Given the description of an element on the screen output the (x, y) to click on. 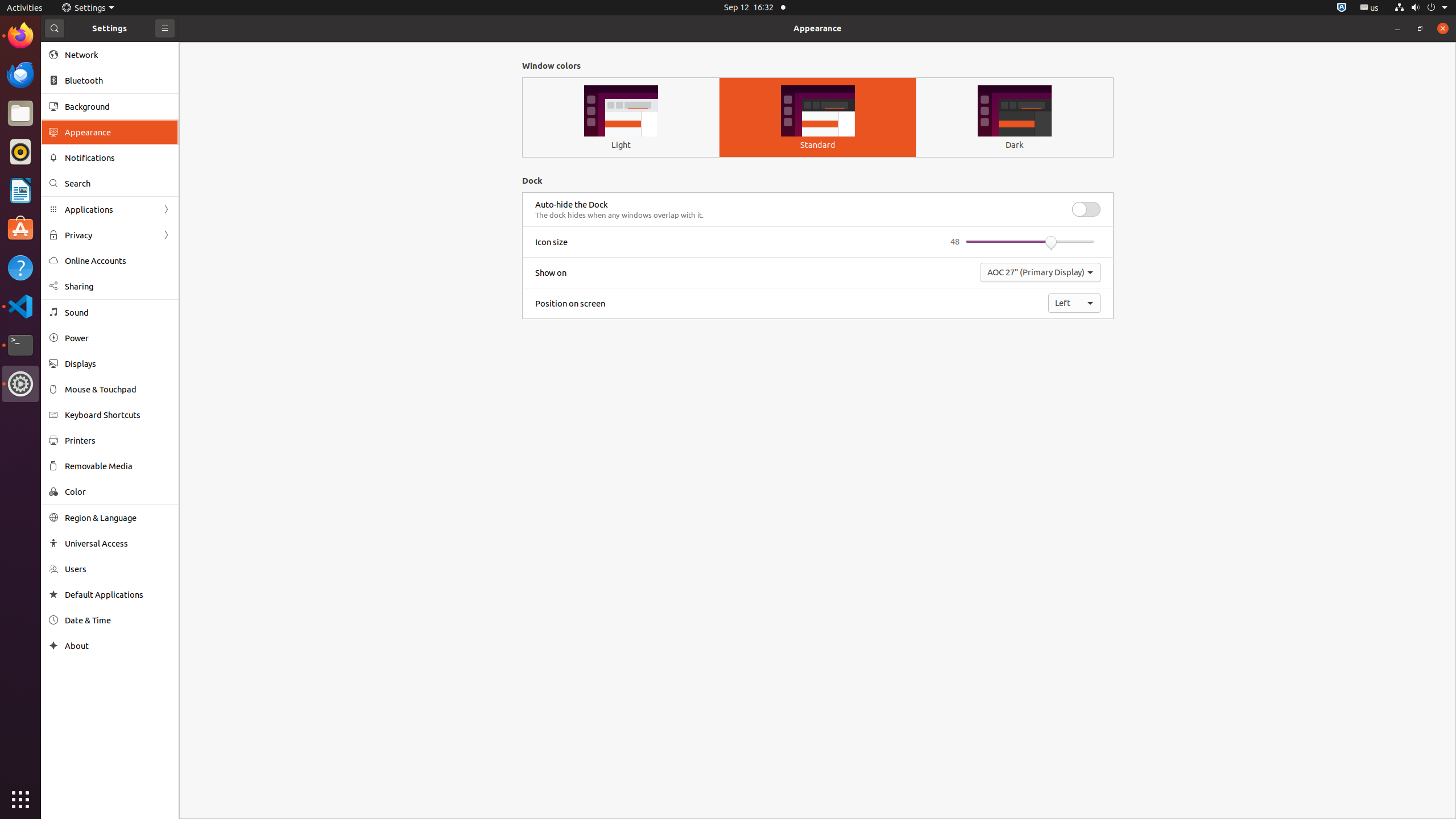
Online Accounts Element type: label (117, 260)
Auto-hide the Dock Element type: label (571, 204)
Appearance Element type: label (817, 27)
Position on screen Element type: label (570, 303)
